Given the description of an element on the screen output the (x, y) to click on. 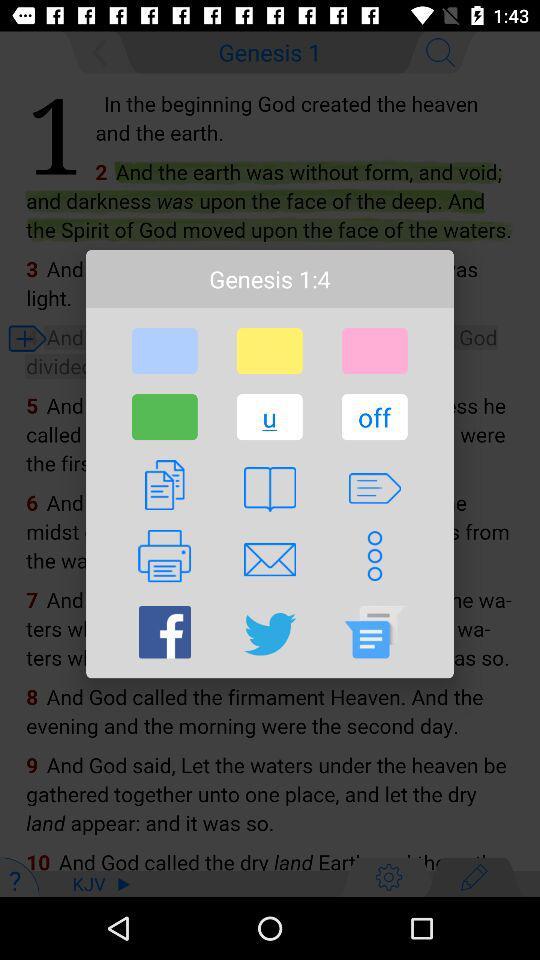
turn on item to the left of u button (164, 417)
